Given the description of an element on the screen output the (x, y) to click on. 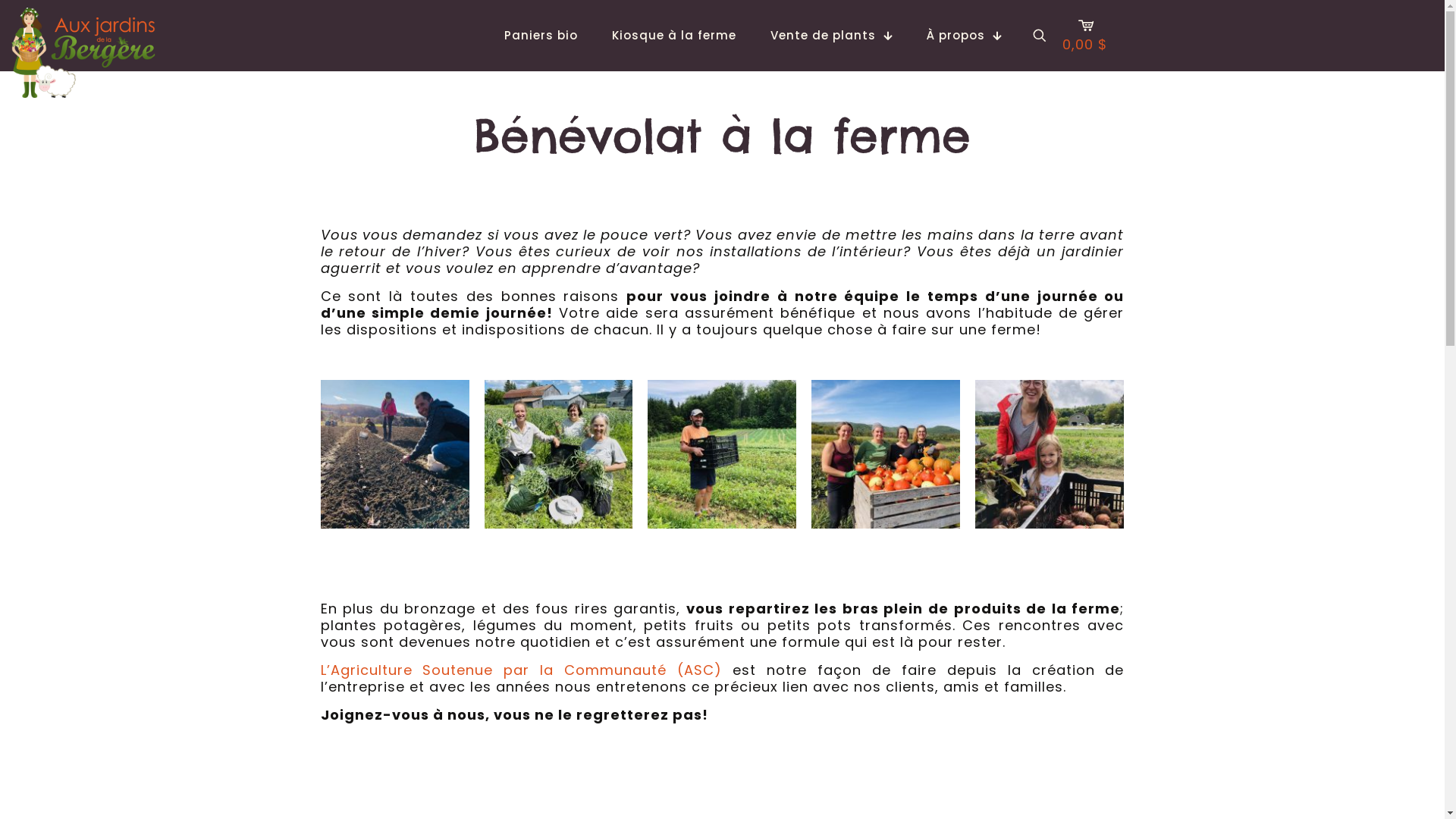
femme_et_filette_champ_bio Element type: hover (1049, 453)
fermieres-recolte_fleur_d-ail Element type: hover (557, 453)
Vente de plants Element type: text (831, 35)
Paniers bio Element type: text (541, 35)
0,00 $ Element type: text (1084, 35)
fermier_dans_champ_bac_de_legumes Element type: hover (721, 453)
fermieres_citrouilles_bio Element type: hover (885, 453)
